Given the description of an element on the screen output the (x, y) to click on. 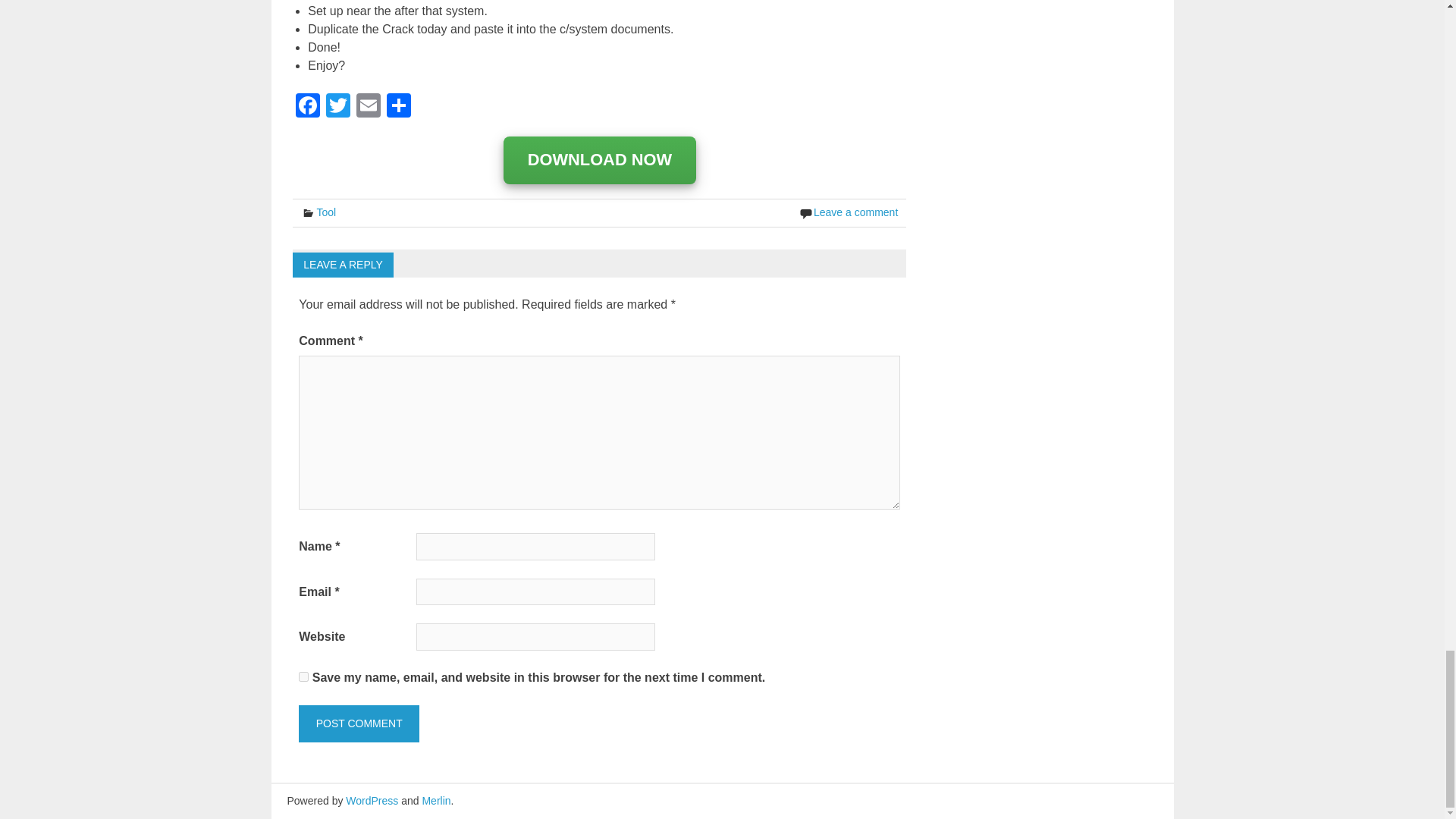
Facebook (307, 107)
Email (368, 107)
Merlin WordPress Theme (435, 800)
DOWNLOAD NOW (600, 160)
Email (368, 107)
Tool (325, 212)
Facebook (307, 107)
Post Comment (358, 723)
Post Comment (358, 723)
WordPress (371, 800)
